Given the description of an element on the screen output the (x, y) to click on. 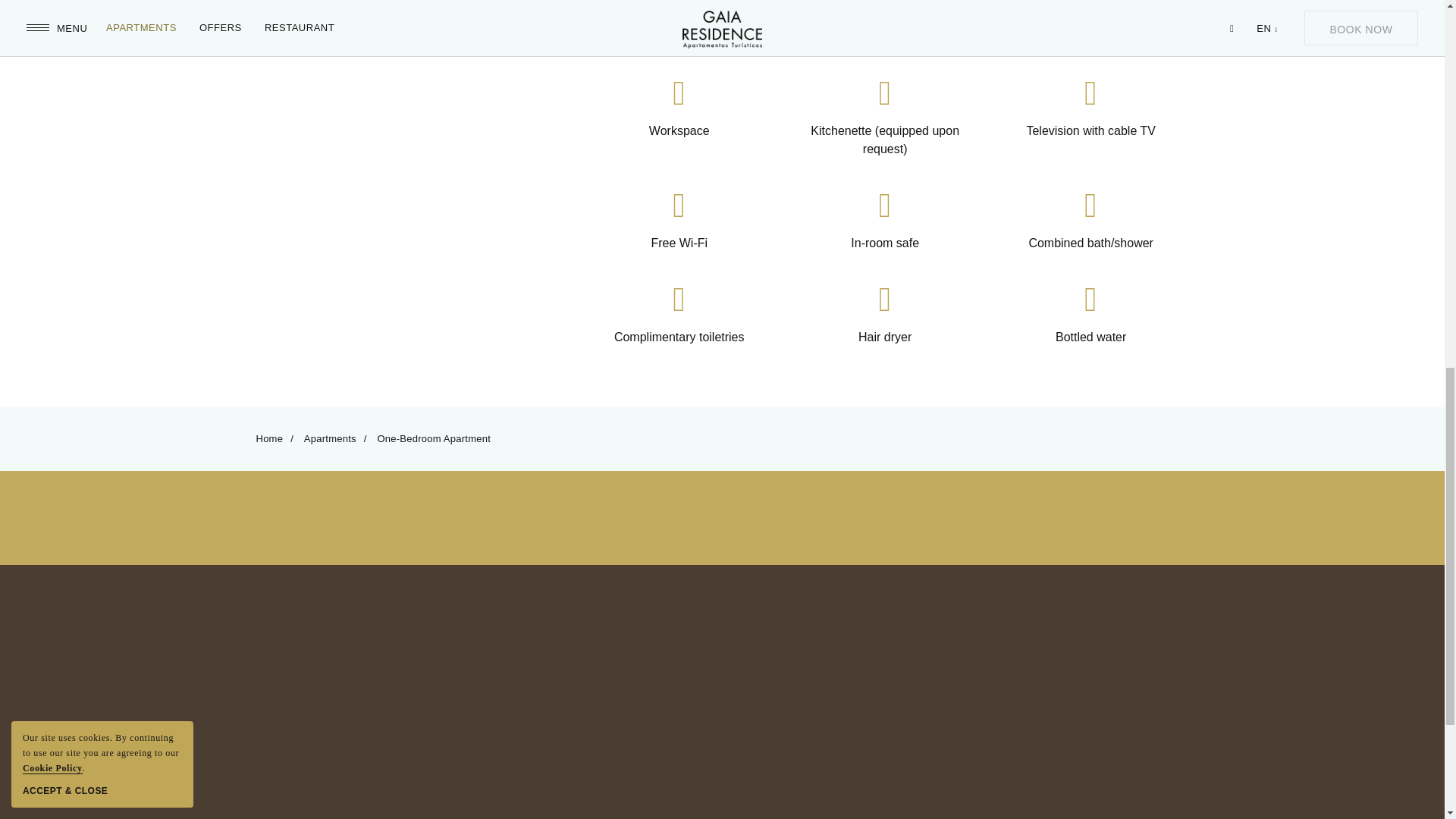
Amenities (374, 173)
Gaia Residence (722, 643)
